Given the description of an element on the screen output the (x, y) to click on. 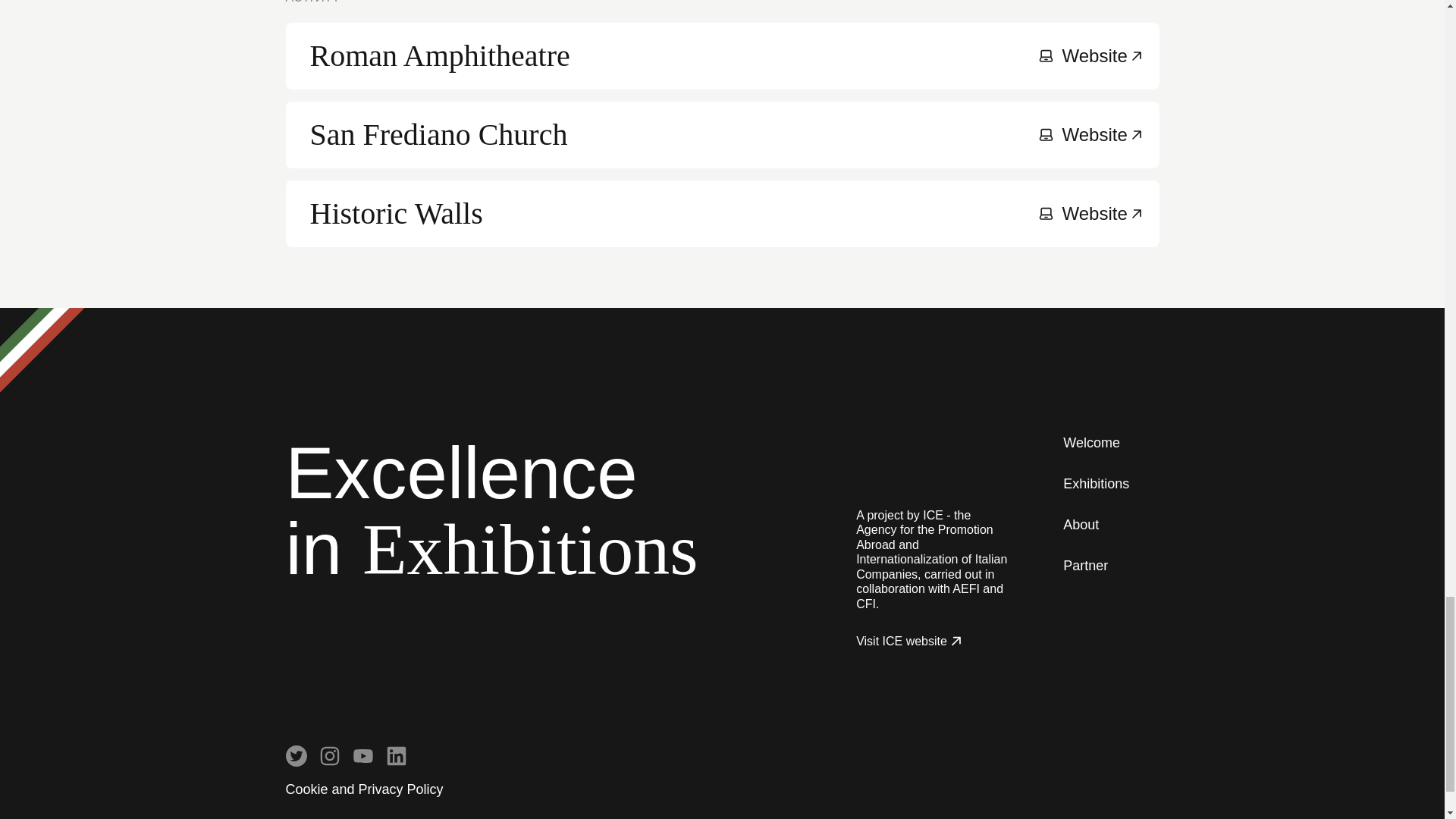
Instagram (328, 755)
YouTube (362, 755)
About (1080, 524)
Instagram (328, 755)
Linkedin (395, 755)
Twitter (295, 755)
Welcome (1090, 443)
What's Next in Italy (909, 459)
Linkedin (395, 755)
Twitter (295, 755)
Visit ICE website (909, 641)
Exhibitions (1095, 484)
Partner (721, 213)
